Given the description of an element on the screen output the (x, y) to click on. 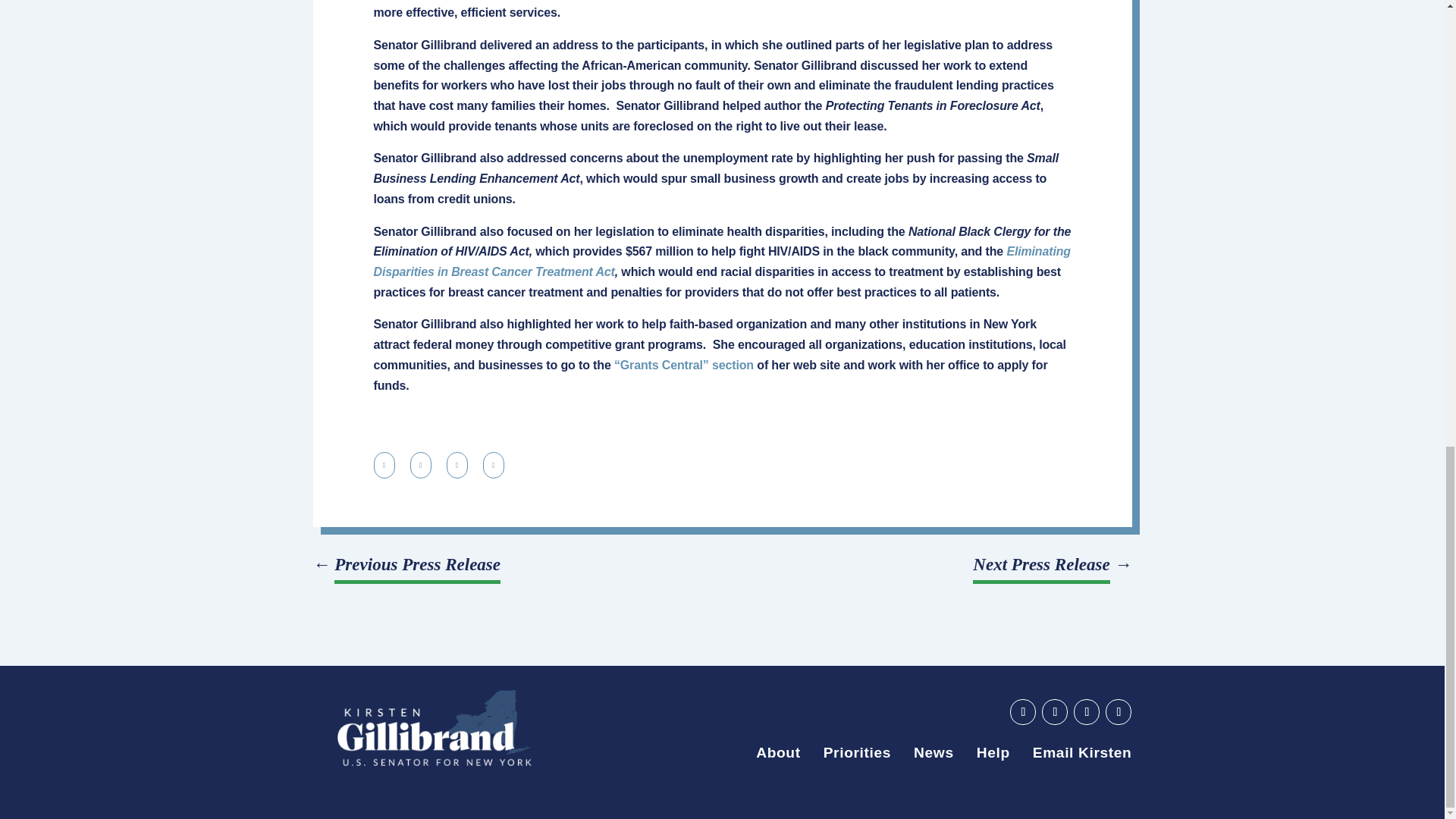
Follow on Facebook (1054, 711)
Print (383, 465)
gillibrand-logo (434, 727)
Share on Facebook (456, 465)
Follow on Twitter (1086, 711)
Tweet (493, 465)
Email (420, 465)
Follow on Youtube (1022, 711)
Follow on Instagram (1118, 711)
